Given the description of an element on the screen output the (x, y) to click on. 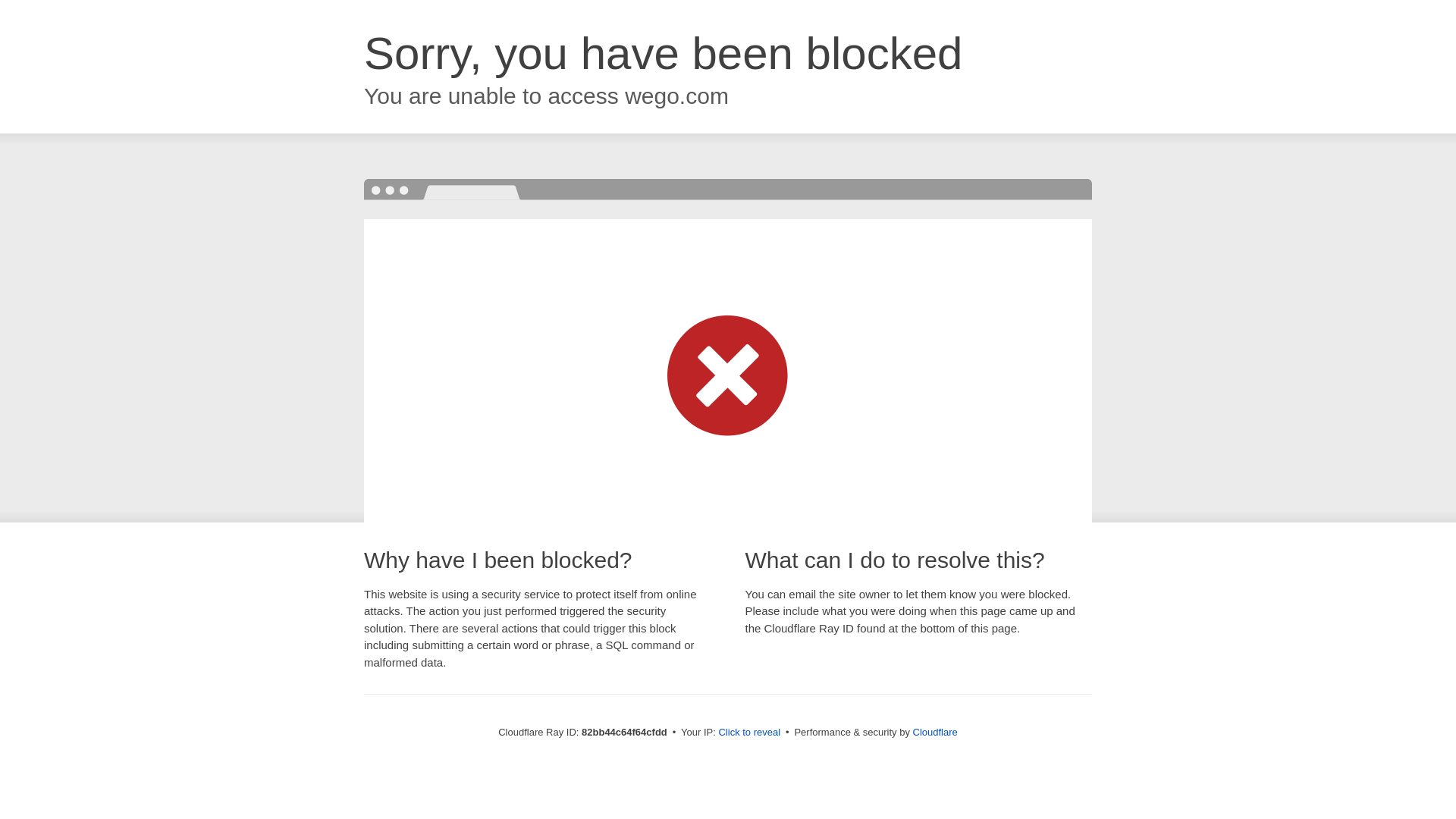
Click to reveal Element type: text (749, 732)
Cloudflare Element type: text (935, 731)
